Given the description of an element on the screen output the (x, y) to click on. 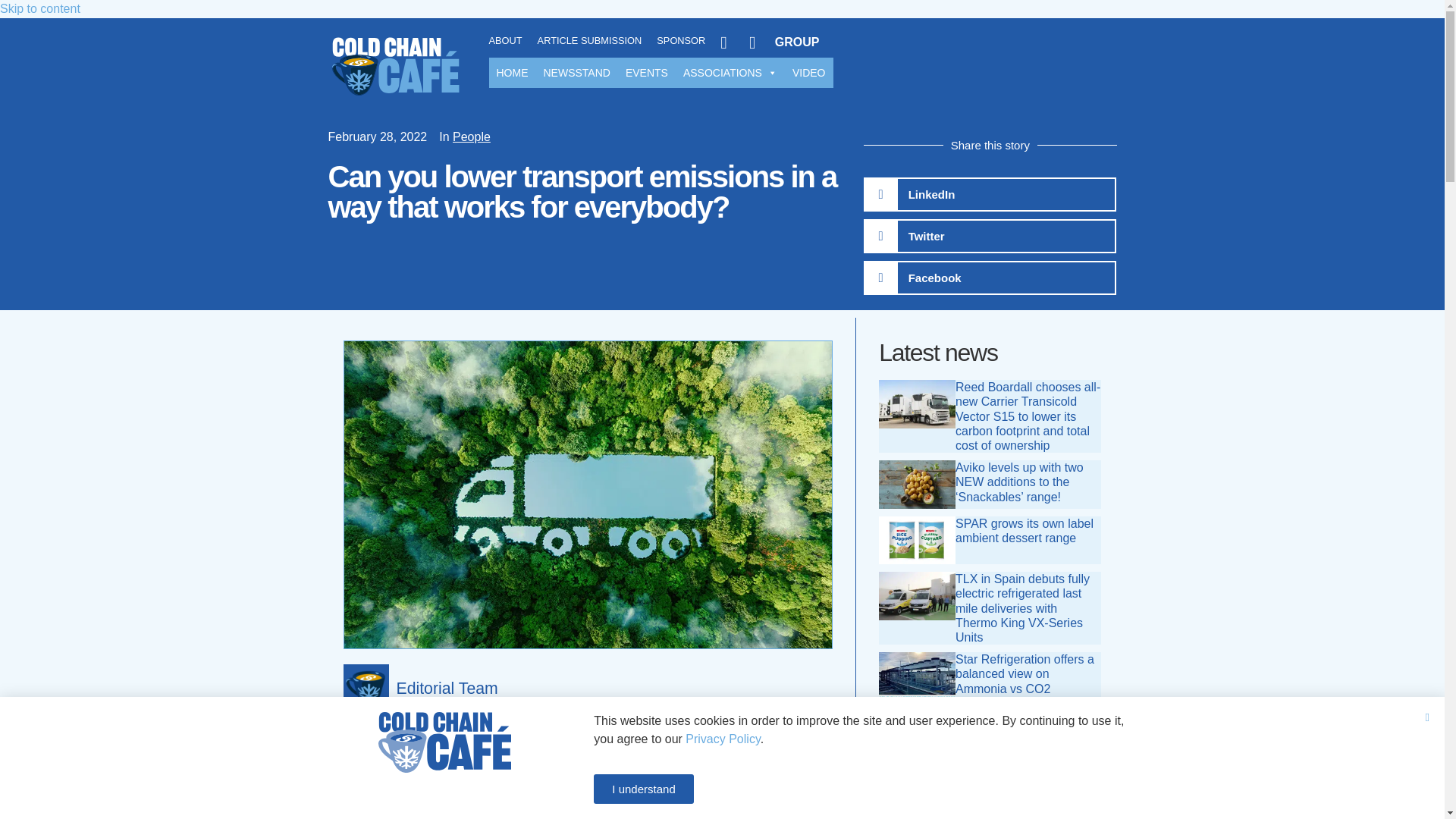
SPONSOR (680, 40)
Skip to content (40, 8)
People (471, 136)
NEWSSTAND (576, 72)
VIDEO (808, 72)
HOME (511, 72)
ARTICLE SUBMISSION (589, 40)
SPAR grows its own label ambient dessert range (1024, 530)
ABOUT (504, 40)
ASSOCIATIONS (729, 72)
EVENTS (646, 72)
GROUP (783, 42)
